Given the description of an element on the screen output the (x, y) to click on. 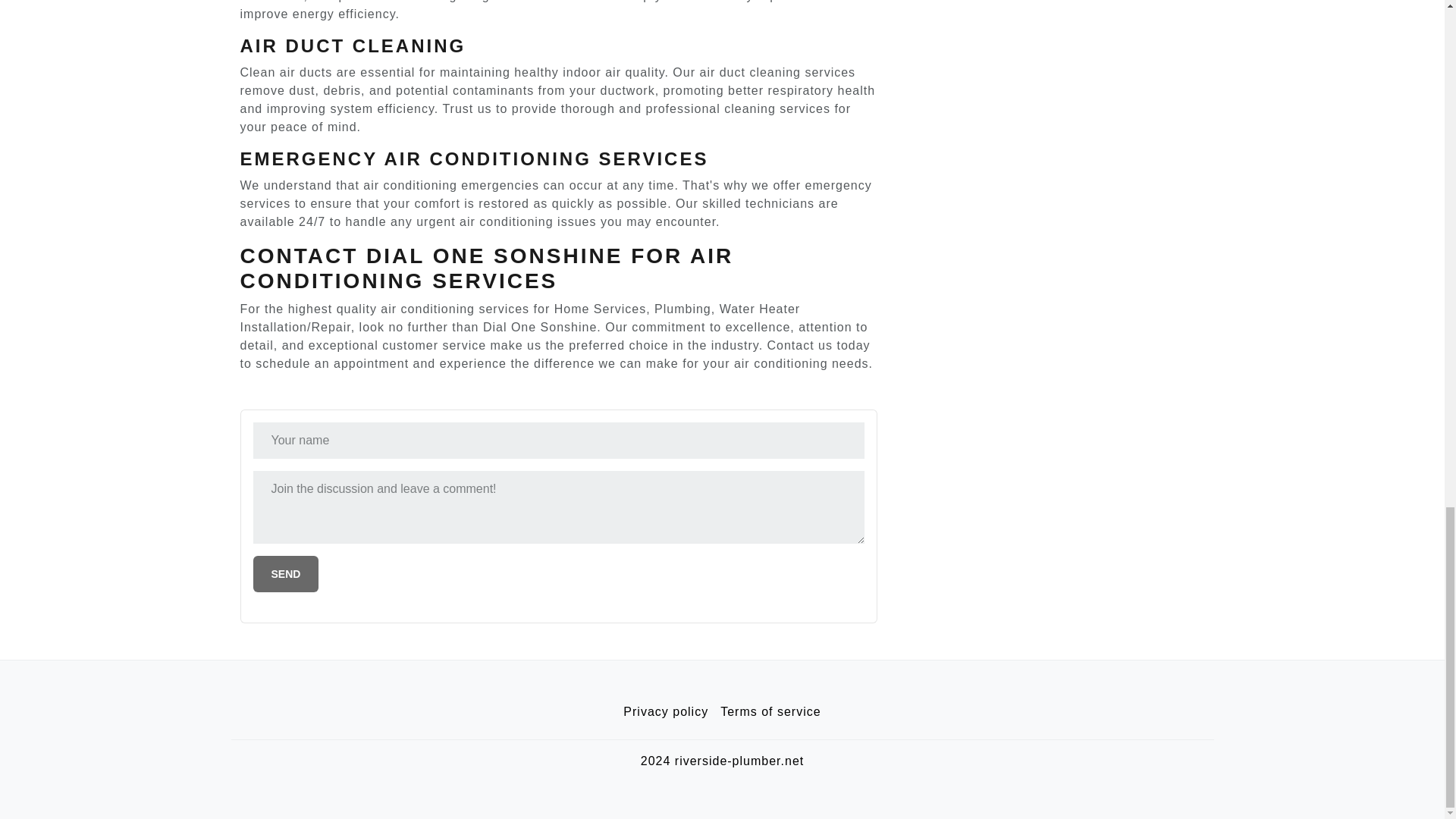
Terms of service (770, 711)
Privacy policy (665, 711)
Send (285, 574)
Send (285, 574)
